Given the description of an element on the screen output the (x, y) to click on. 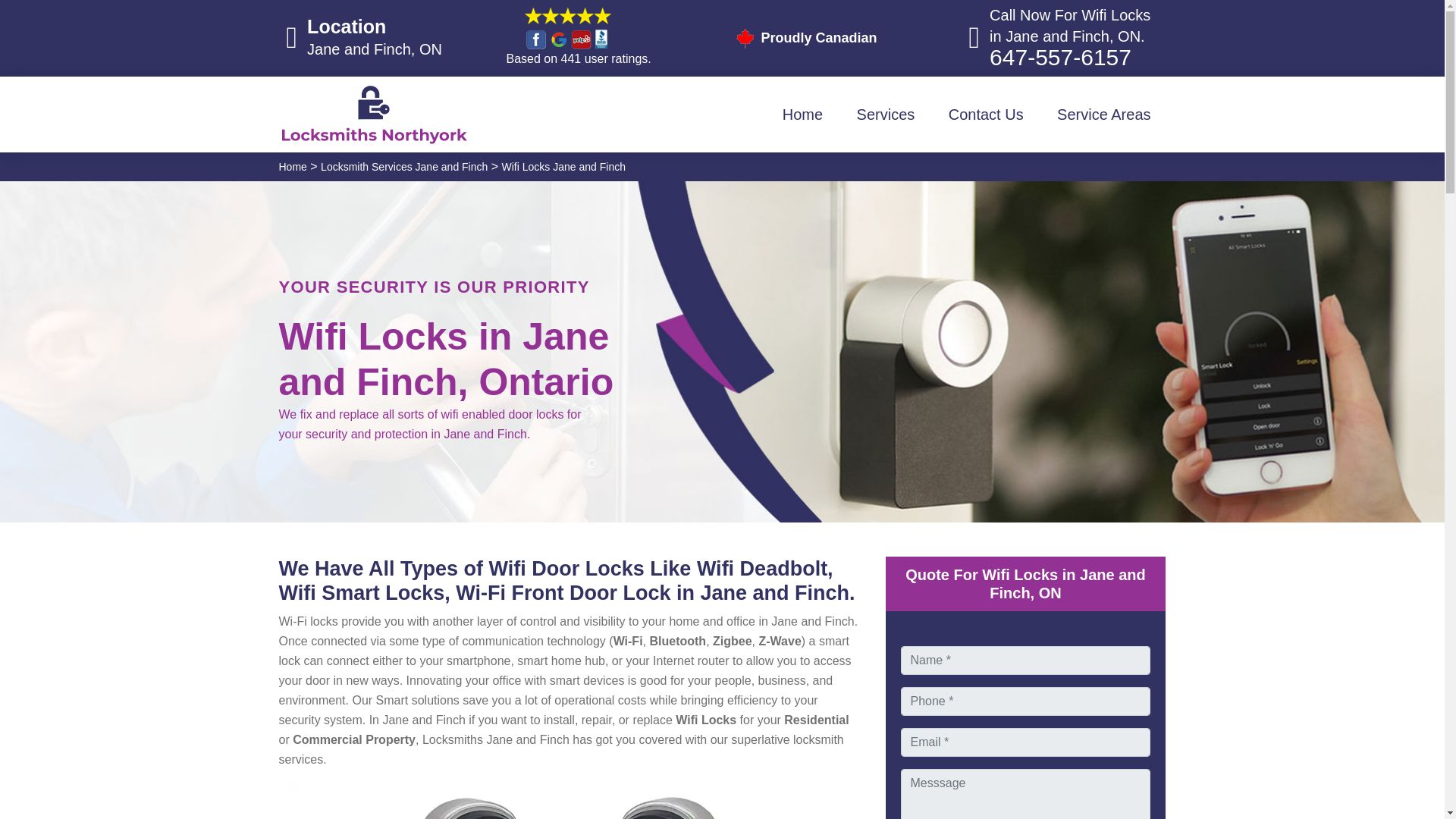
Services (885, 114)
Service Areas (1104, 114)
Contact Us (986, 114)
647-557-6157 (1060, 57)
Home (802, 114)
